Given the description of an element on the screen output the (x, y) to click on. 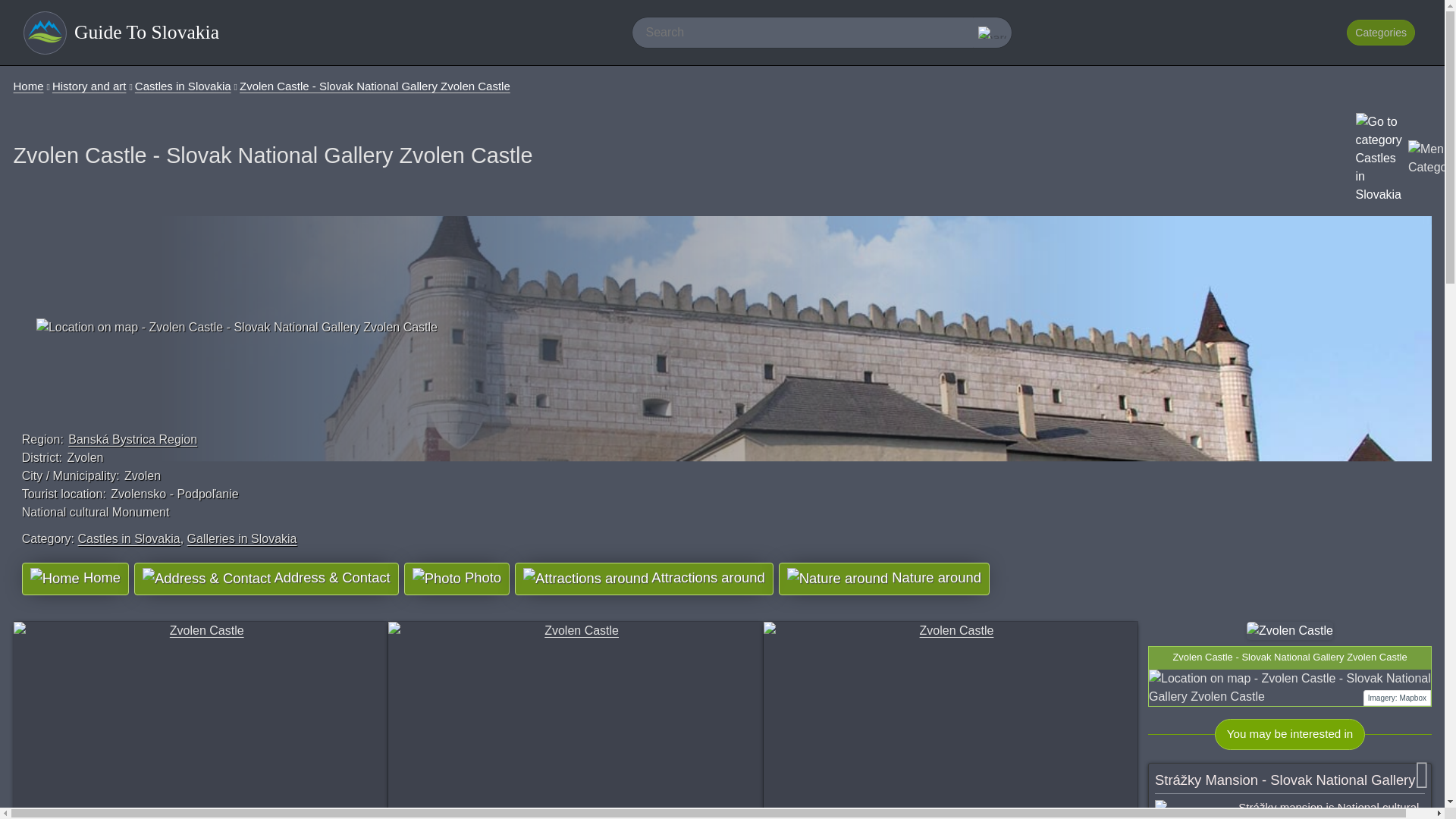
Photo (456, 578)
Home (28, 85)
Go to: Castles in Slovakia (128, 538)
Menu Categories (1431, 158)
Nature around (837, 578)
Search (992, 32)
Nature around (884, 578)
Castles in Slovakia (183, 85)
Castles in Slovakia (128, 538)
Zvolen Castle (200, 720)
Palickap (690, 814)
Xmetov (1081, 814)
Attractions around (584, 578)
Go to: Galleries in Slovakia (242, 538)
